Given the description of an element on the screen output the (x, y) to click on. 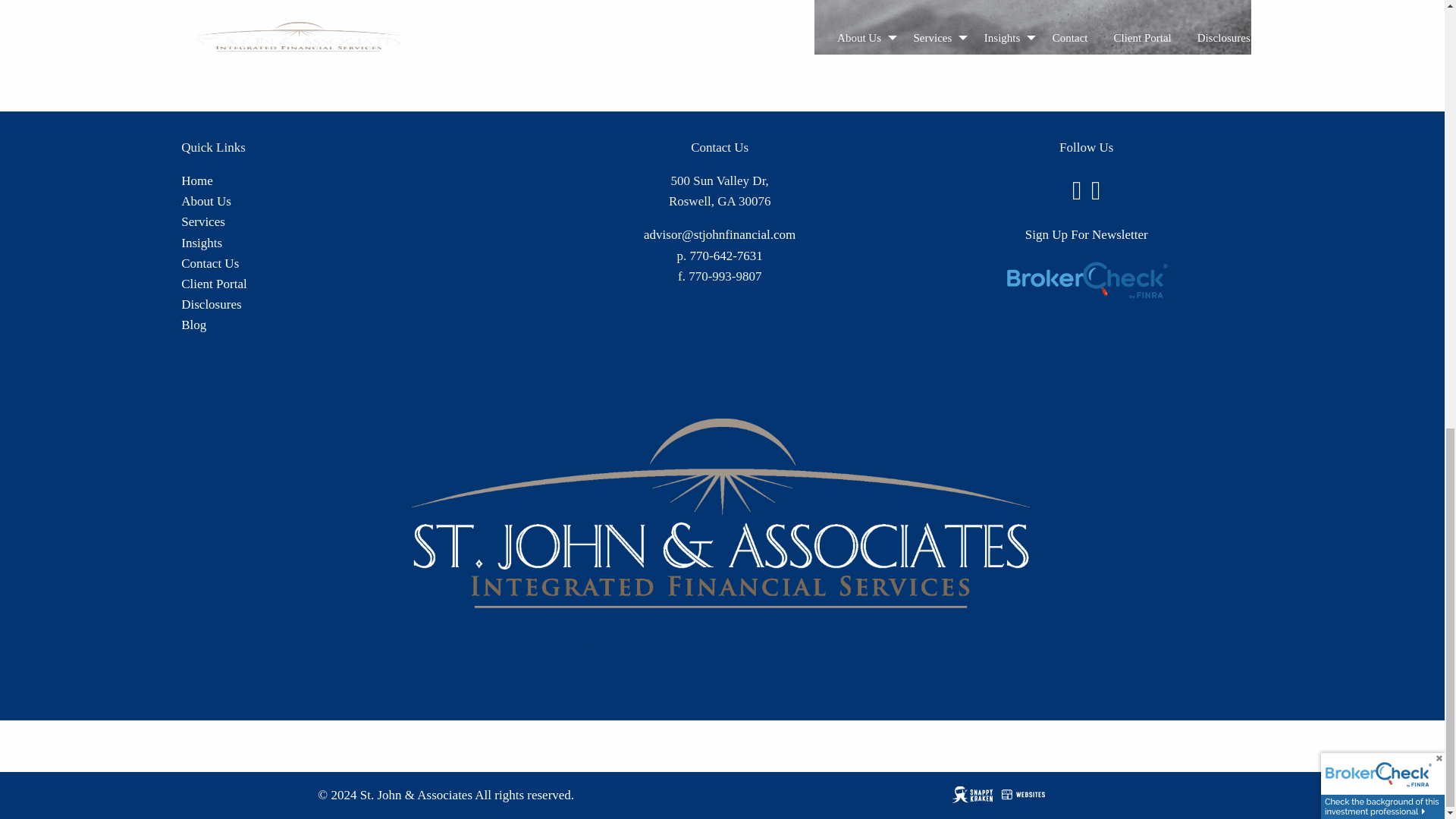
Disclosures (210, 304)
Overview (202, 221)
Client Portal (213, 283)
Who We Are (205, 201)
Newsletters (201, 242)
Contact (209, 263)
